Given the description of an element on the screen output the (x, y) to click on. 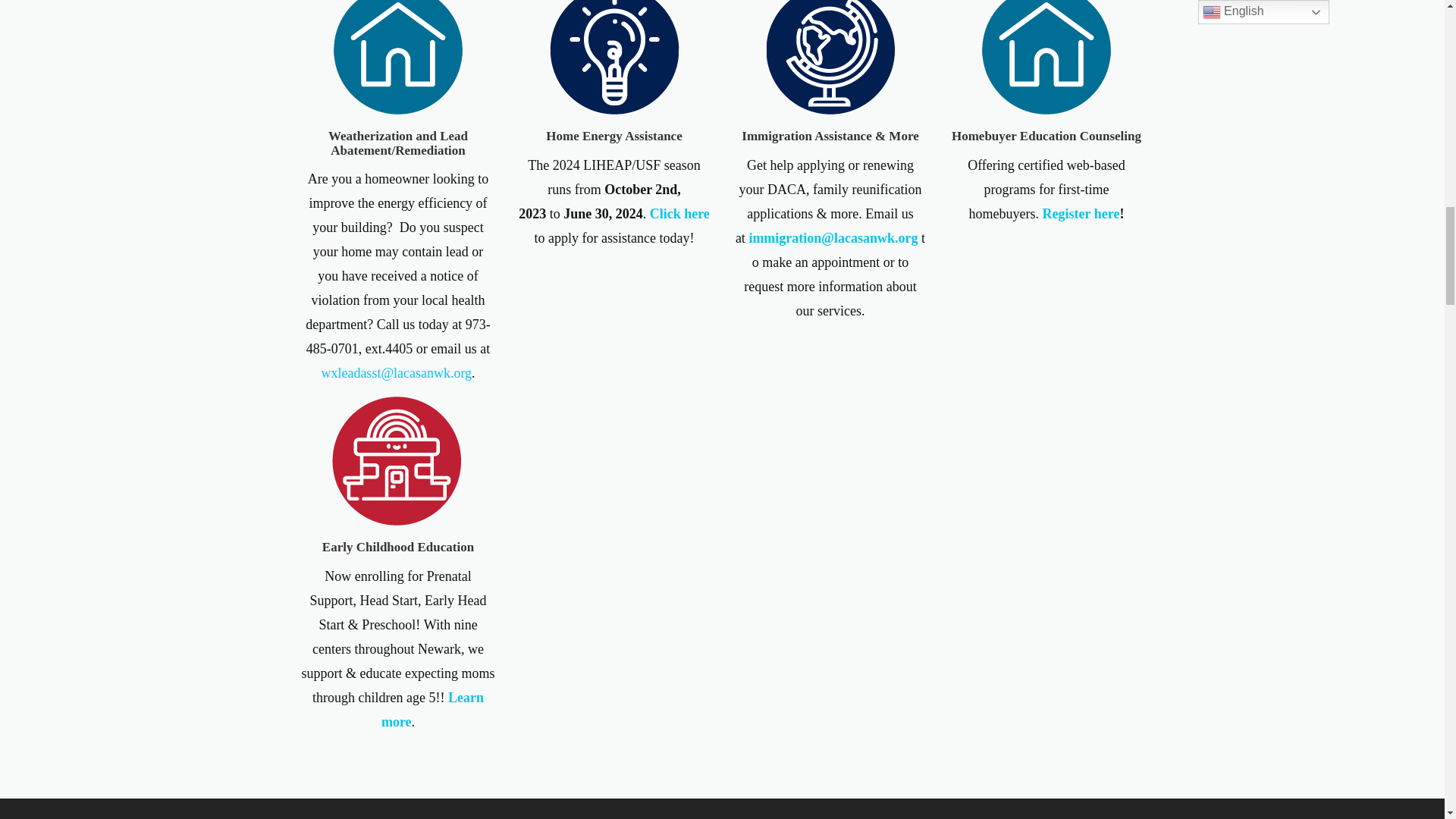
Register here (1080, 213)
Early Childhood Education (397, 460)
Homebuyer Education Counseling (1045, 49)
Click here (679, 213)
Homebuyer Education Counseling (1046, 135)
Home Energy Assistance (613, 135)
Homebuyer Education Counseling (1046, 135)
Early Childhood Education (397, 546)
Early Childhood Education (397, 546)
Home Energy Assistance (613, 49)
